Given the description of an element on the screen output the (x, y) to click on. 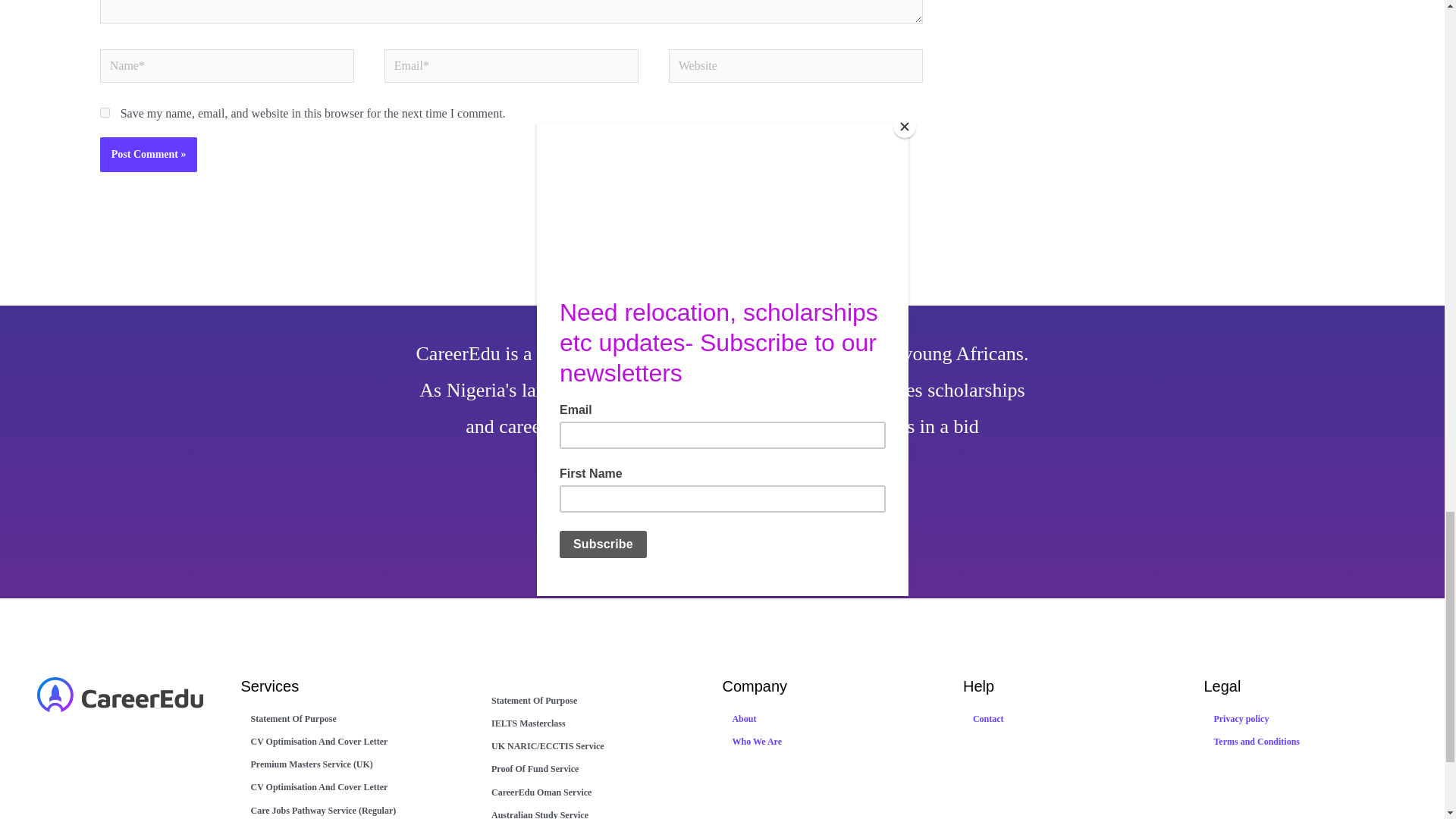
yes (105, 112)
